Given the description of an element on the screen output the (x, y) to click on. 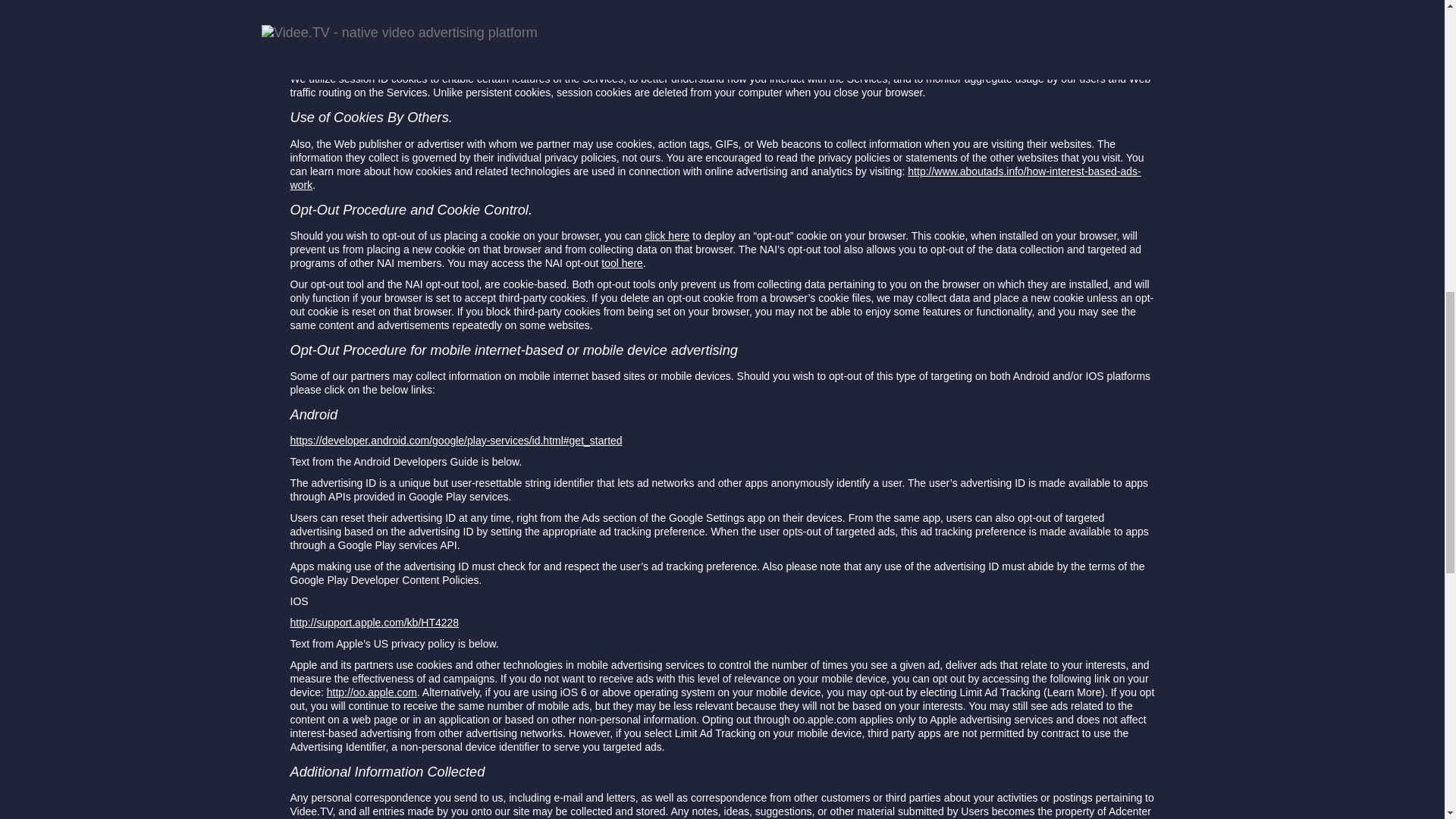
tool here (621, 263)
click here (666, 235)
